Given the description of an element on the screen output the (x, y) to click on. 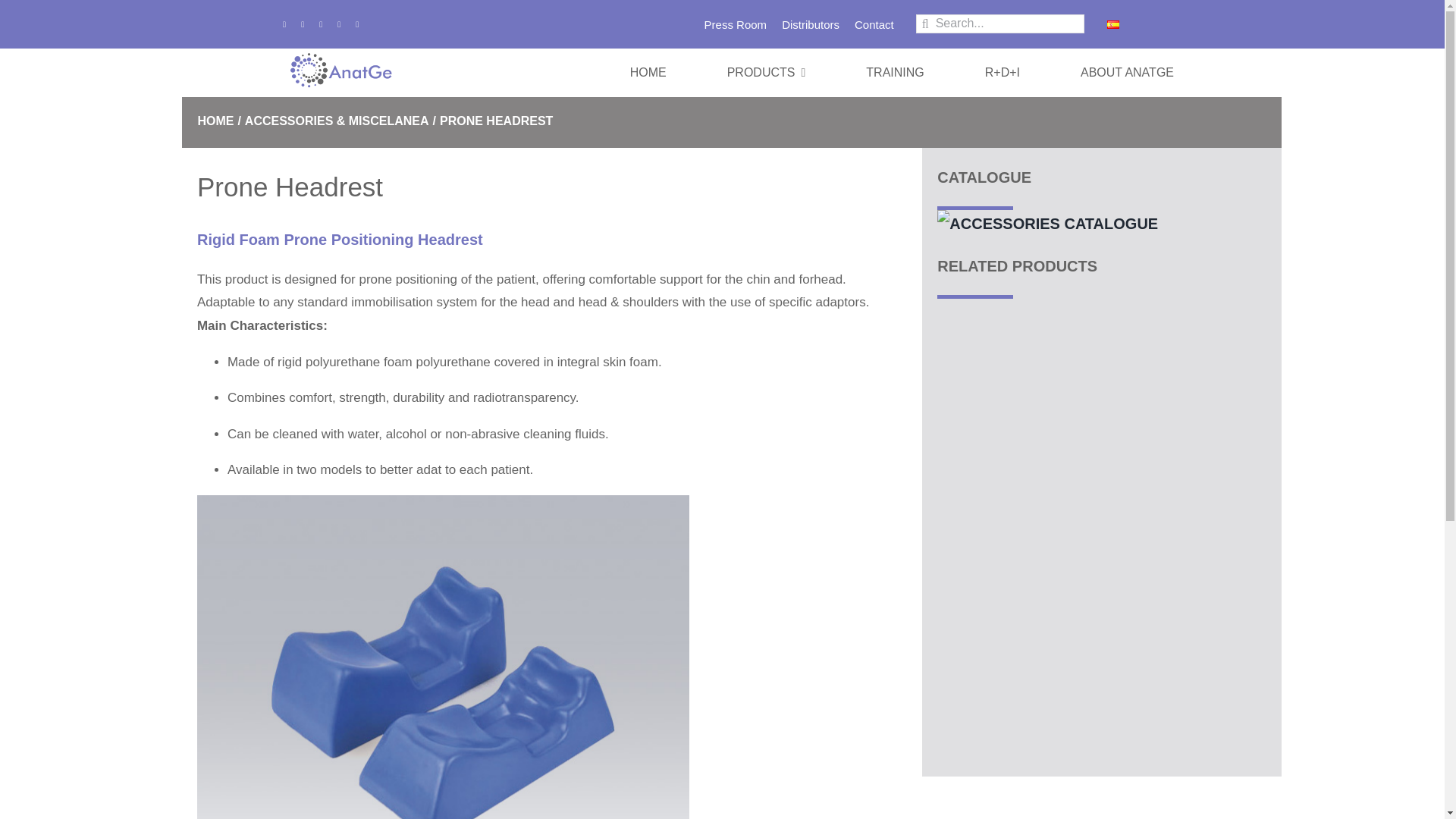
logo (340, 73)
Contact (873, 23)
ABOUT ANATGE (1126, 72)
HOME (648, 72)
PRODUCTS (766, 72)
TRAINING (894, 72)
Press Room (735, 23)
Distributors (810, 23)
